Given the description of an element on the screen output the (x, y) to click on. 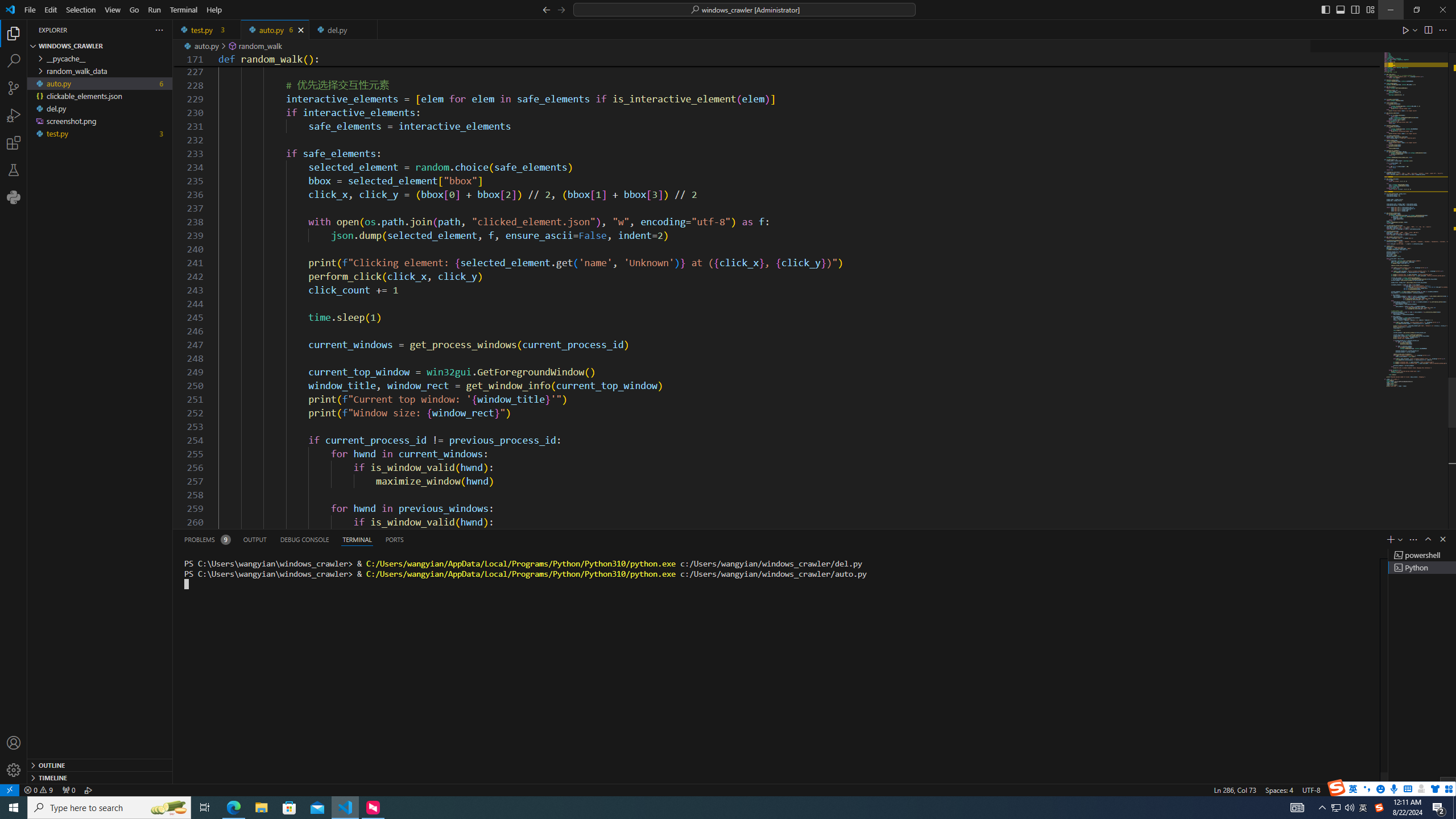
Spaces: 4 (1278, 789)
Terminal 5 Python (1422, 567)
Tab actions (369, 29)
Close (Ctrl+F4) (369, 29)
auto.py (274, 29)
Output (Ctrl+Shift+U) (254, 539)
Customize Layout... (1369, 9)
Toggle Secondary Side Bar (Ctrl+Alt+B) (1355, 9)
Testing (13, 169)
Title actions (1347, 9)
